Given the description of an element on the screen output the (x, y) to click on. 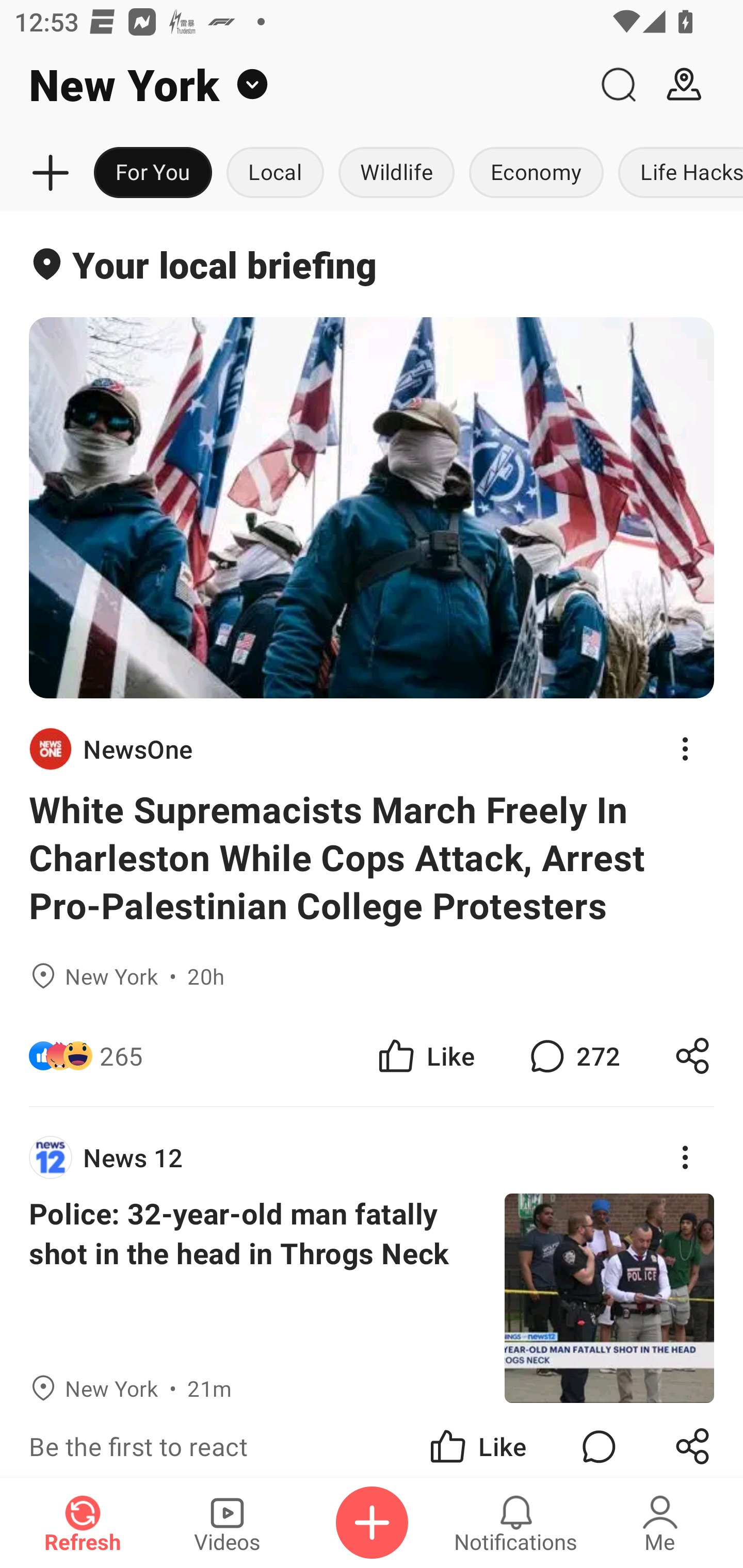
New York (292, 84)
For You (152, 172)
Local (275, 172)
Wildlife (396, 172)
Economy (536, 172)
Life Hacks (676, 172)
265 (121, 1055)
Like (425, 1055)
272 (572, 1055)
Be the first to react (244, 1440)
Like (476, 1440)
Videos (227, 1522)
Notifications (516, 1522)
Me (659, 1522)
